Given the description of an element on the screen output the (x, y) to click on. 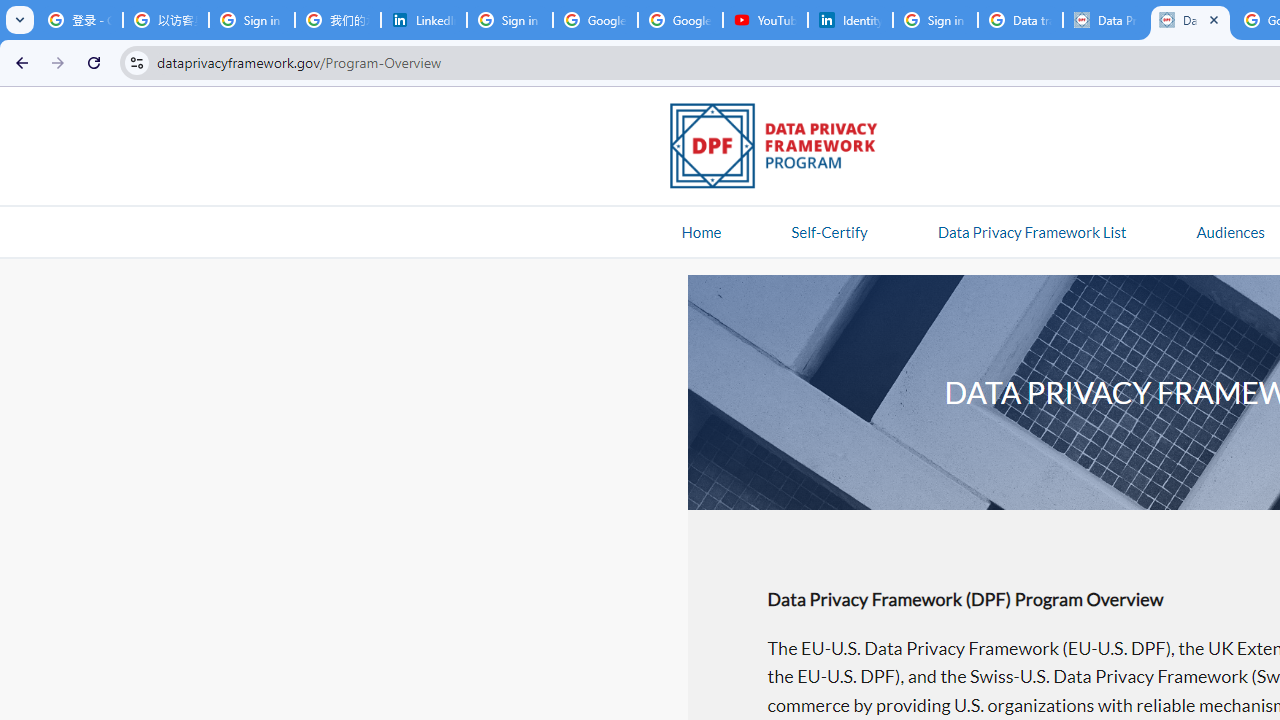
Data Privacy Framework (1190, 20)
AutomationID: navitem (1230, 231)
Data Privacy Framework Logo - Link to Homepage (783, 149)
Home (701, 231)
Audiences (1230, 231)
Sign in - Google Accounts (935, 20)
